Given the description of an element on the screen output the (x, y) to click on. 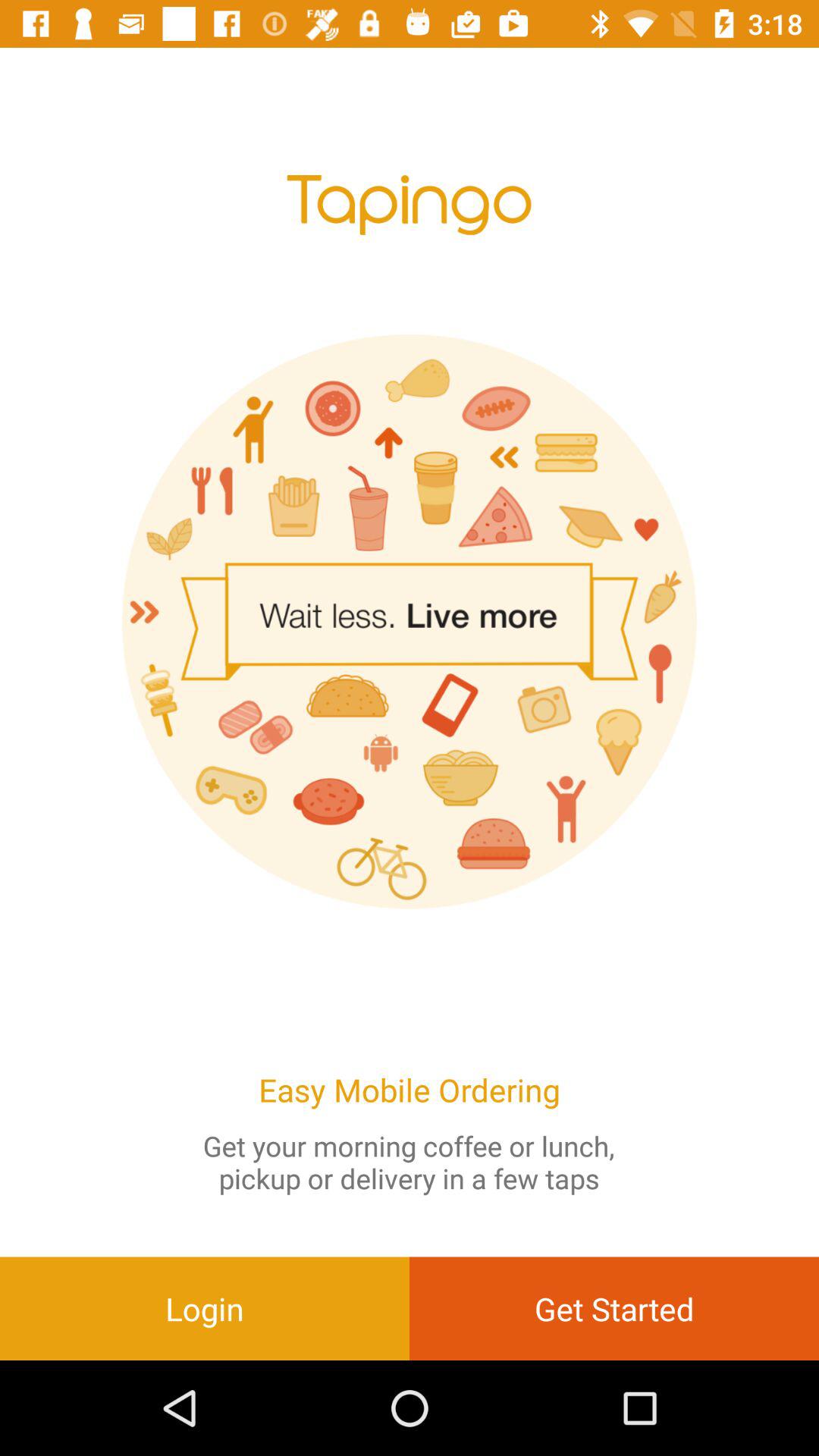
open icon next to get started item (204, 1308)
